Given the description of an element on the screen output the (x, y) to click on. 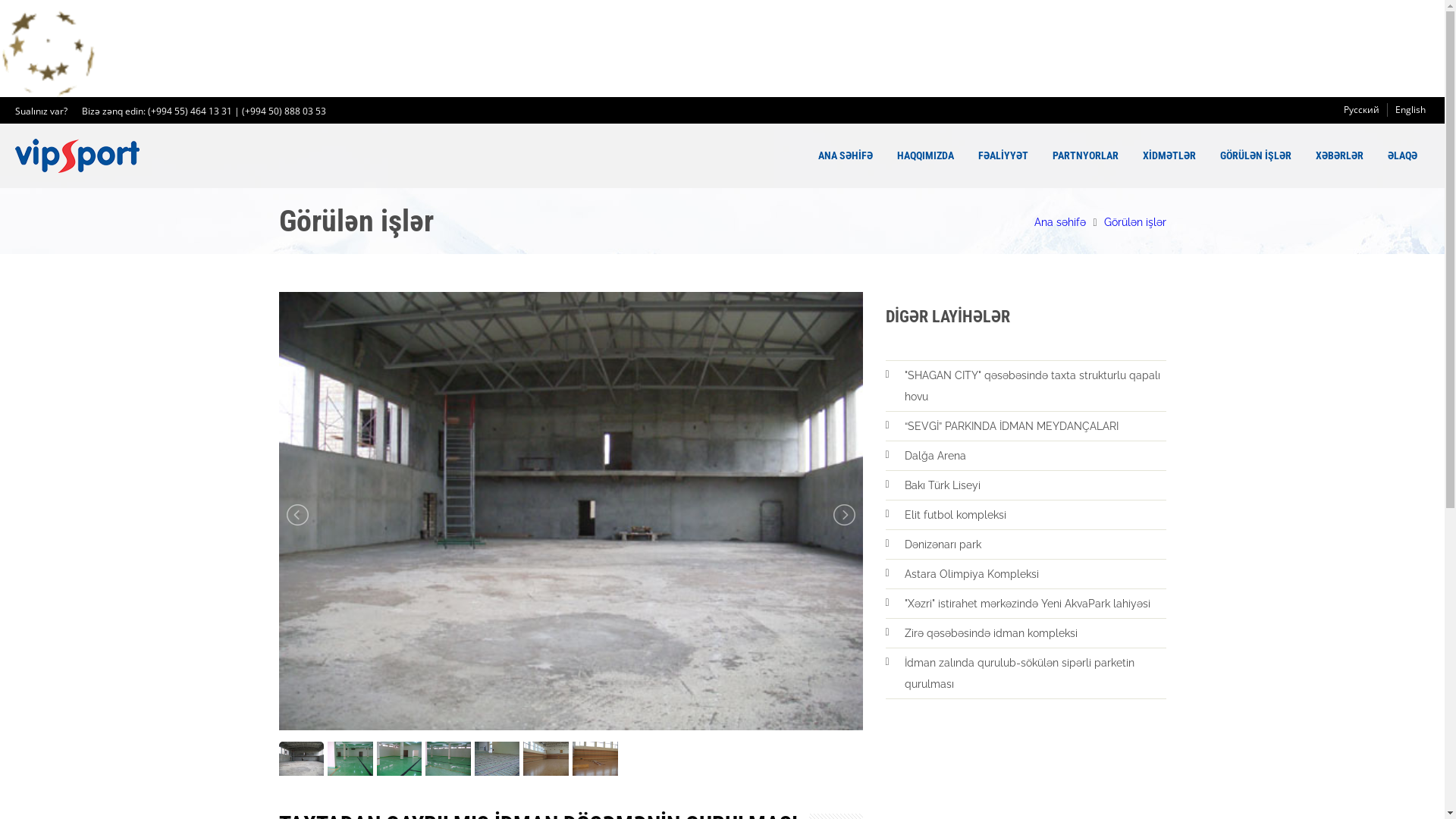
English Element type: text (1410, 109)
Astara Olimpiya Kompleksi Element type: text (1034, 573)
HAQQIMIZDA Element type: text (925, 155)
PARTNYORLAR Element type: text (1085, 155)
VIP Sport professional Element type: hover (77, 155)
Elit futbol kompleksi Element type: text (1034, 514)
